Given the description of an element on the screen output the (x, y) to click on. 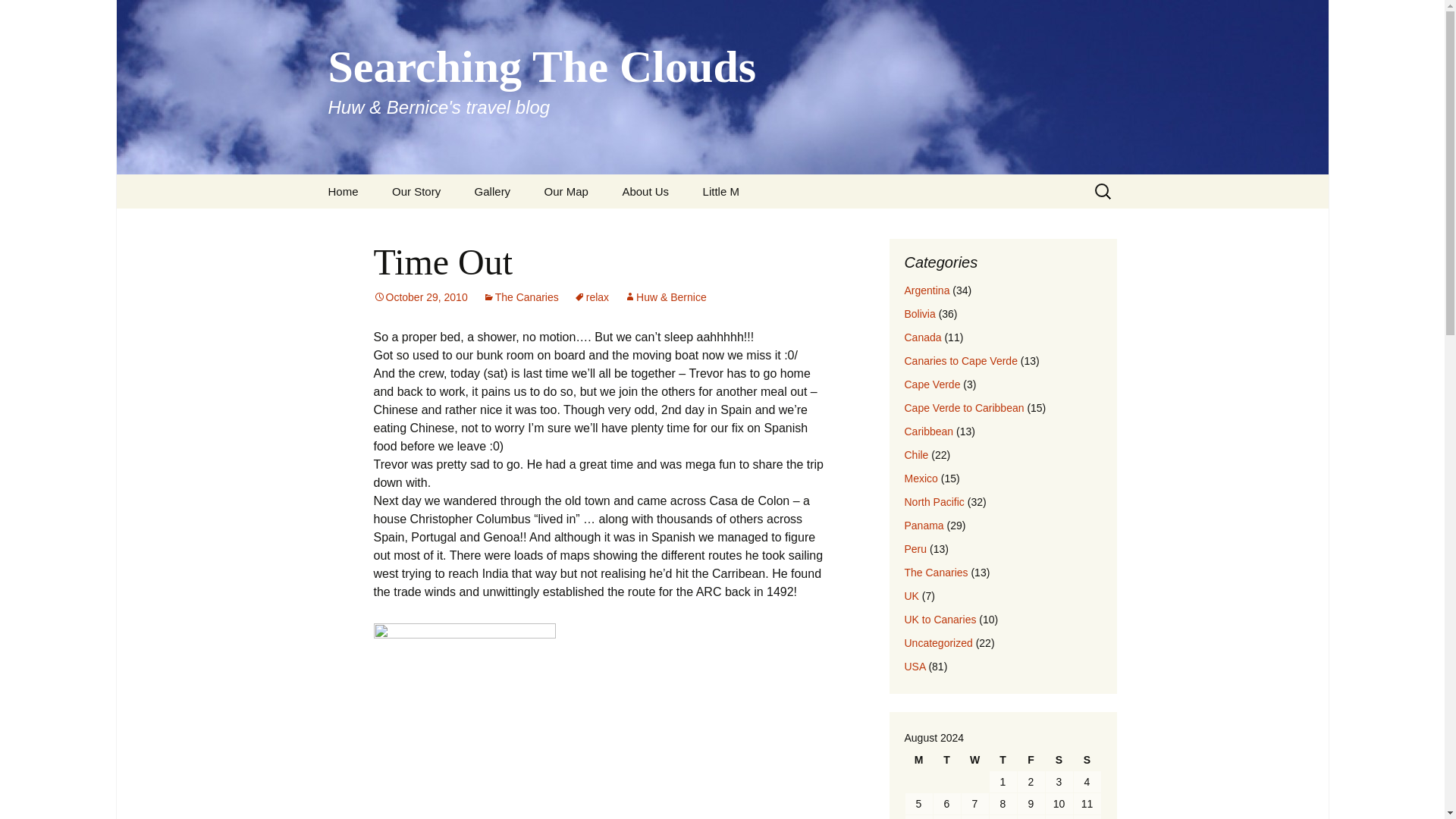
Cape Verde (931, 384)
North Pacific (933, 501)
Canada (922, 337)
Sunday (1087, 759)
UK to Canaries (939, 619)
Our Map (566, 191)
USA (914, 666)
Caribbean (928, 431)
Home (342, 191)
Peru (915, 548)
